Given the description of an element on the screen output the (x, y) to click on. 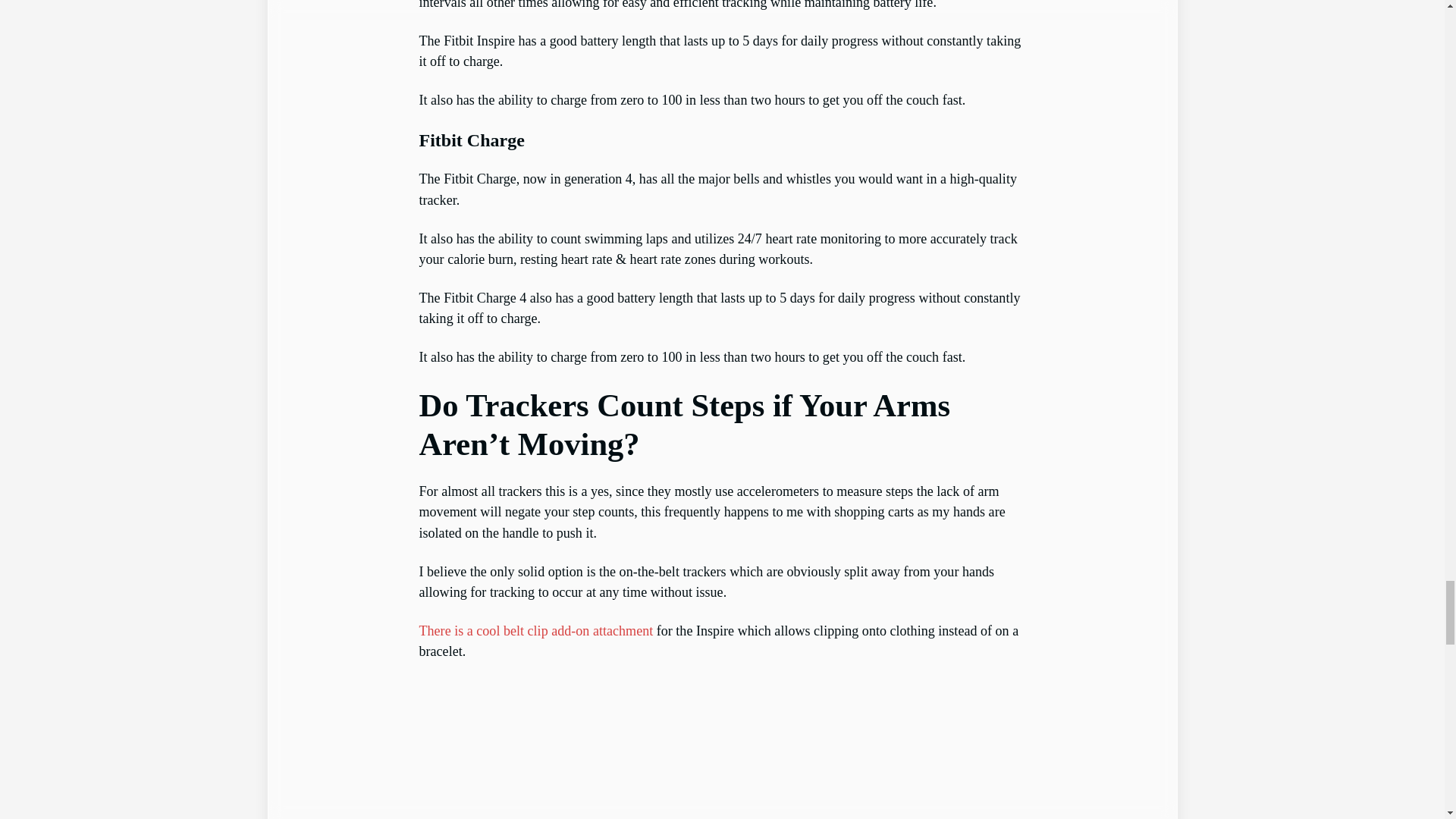
There is a cool belt clip add-on attachment (535, 630)
Are Fitness Trackers Worth Using? (722, 749)
